Given the description of an element on the screen output the (x, y) to click on. 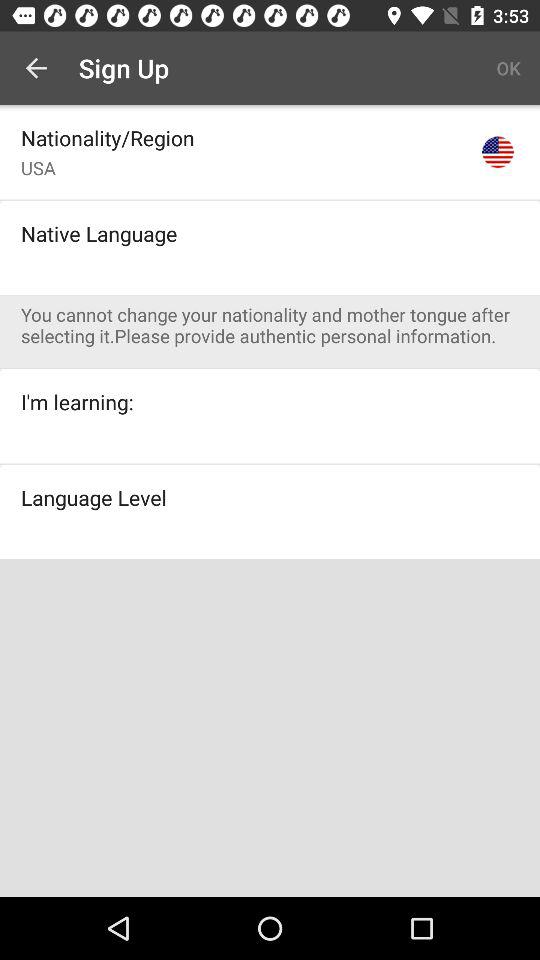
click the item next to sign up icon (508, 67)
